Given the description of an element on the screen output the (x, y) to click on. 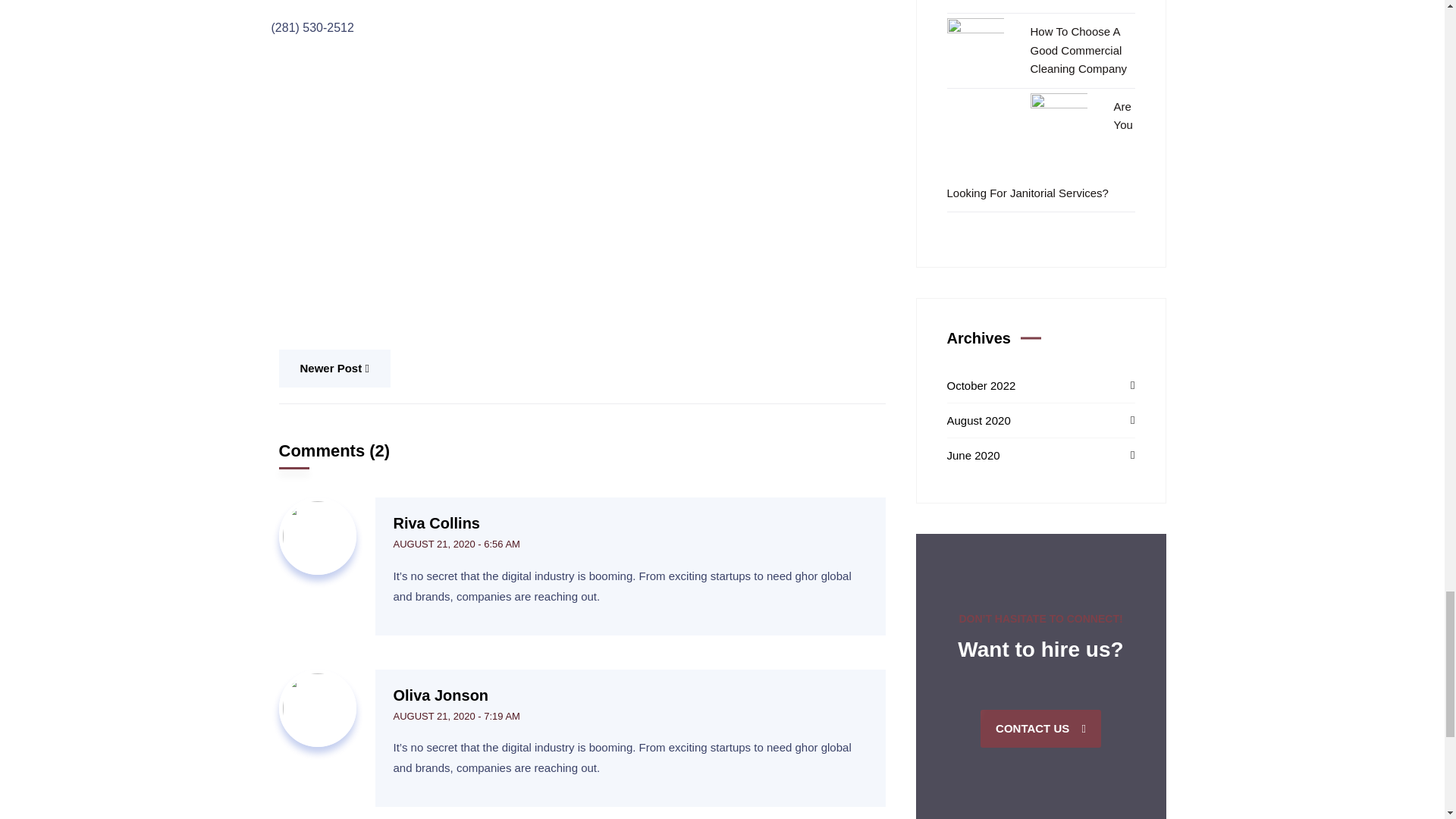
Newer Post (334, 368)
